Given the description of an element on the screen output the (x, y) to click on. 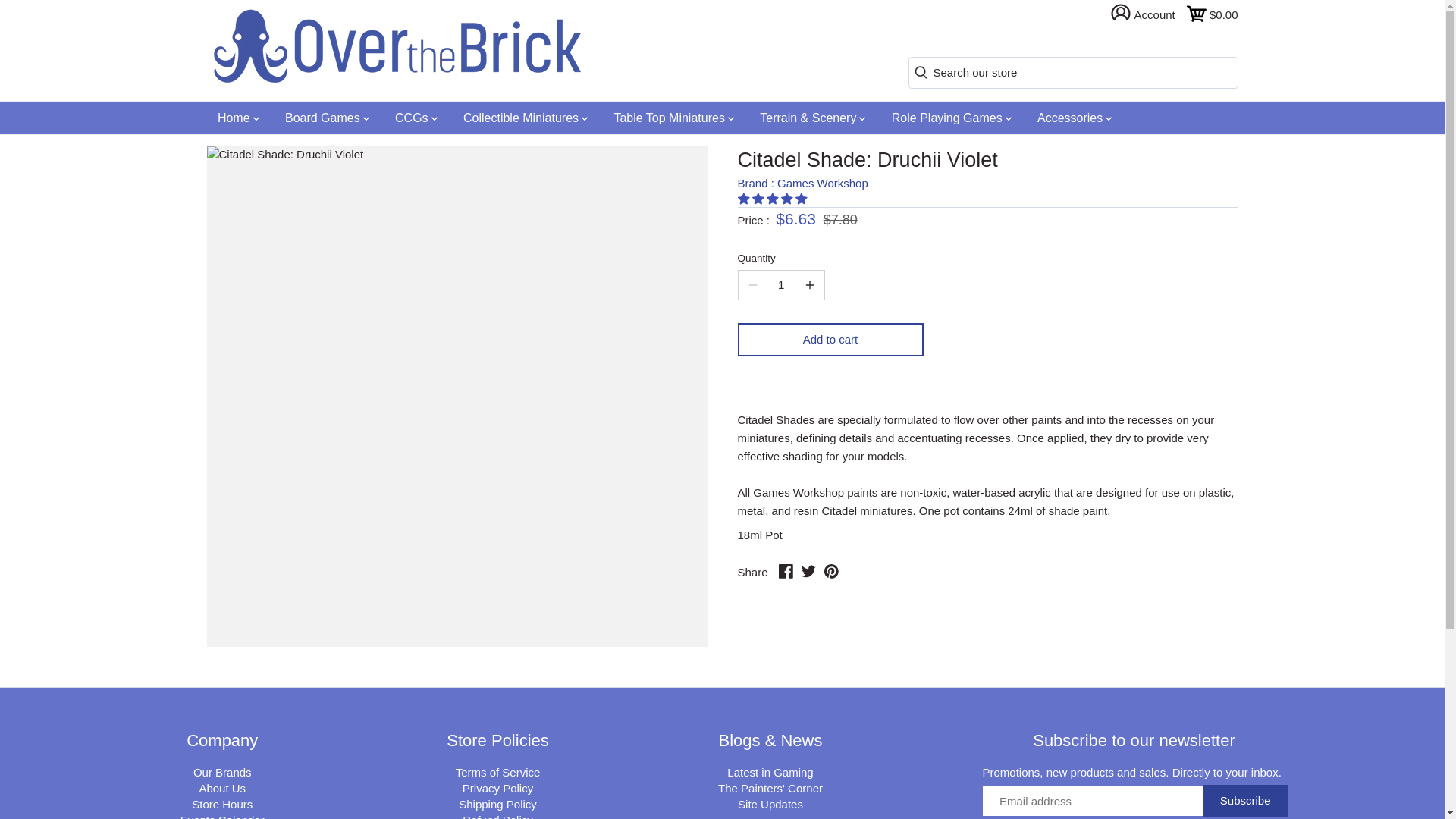
Pinterest (831, 571)
CCGs (416, 117)
Home (237, 117)
Board Games (327, 117)
Facebook (785, 571)
Twitter (808, 571)
Account (1148, 14)
Subscribe (1245, 800)
1 (781, 285)
